Given the description of an element on the screen output the (x, y) to click on. 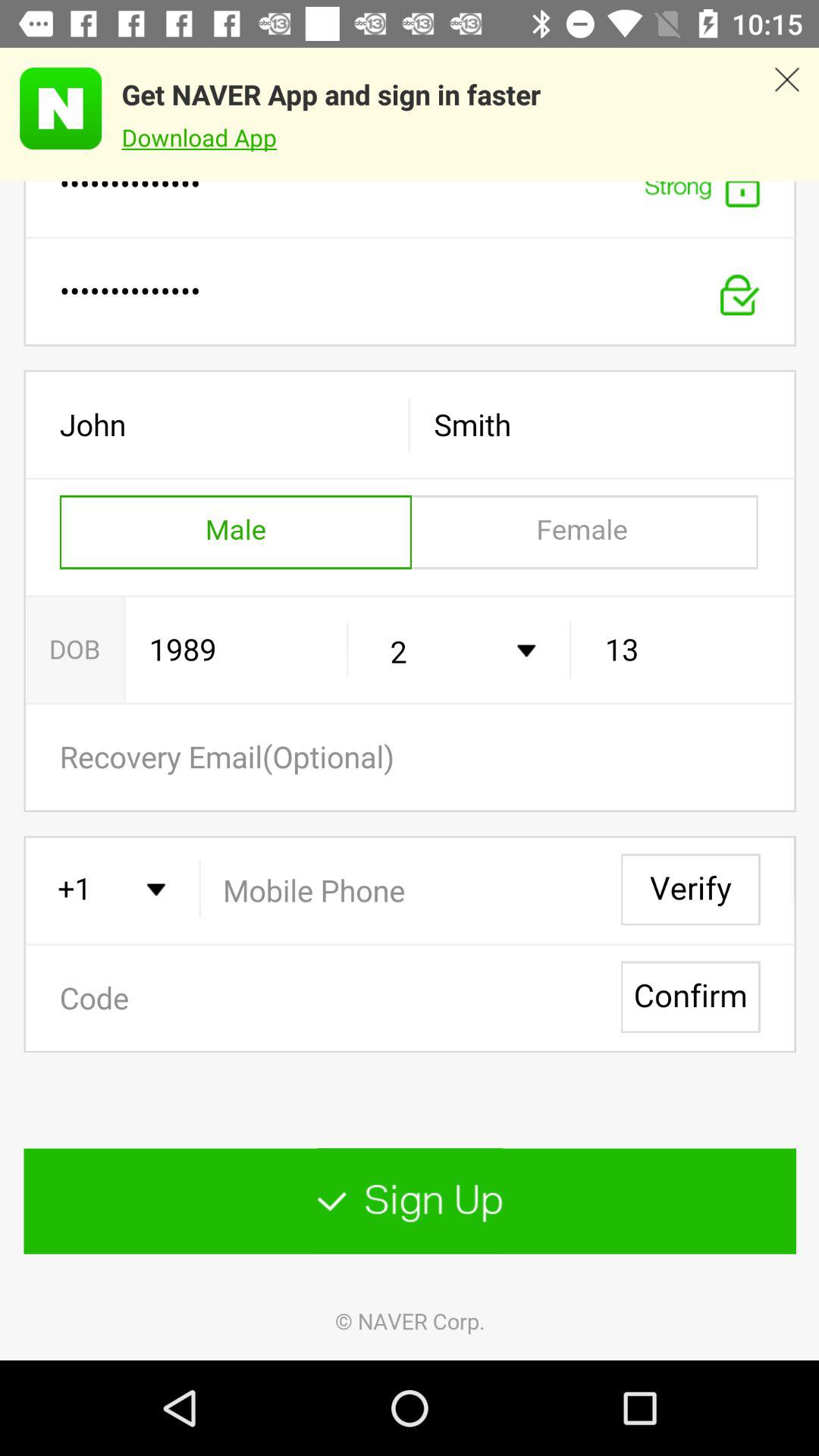
close app (787, 114)
